Given the description of an element on the screen output the (x, y) to click on. 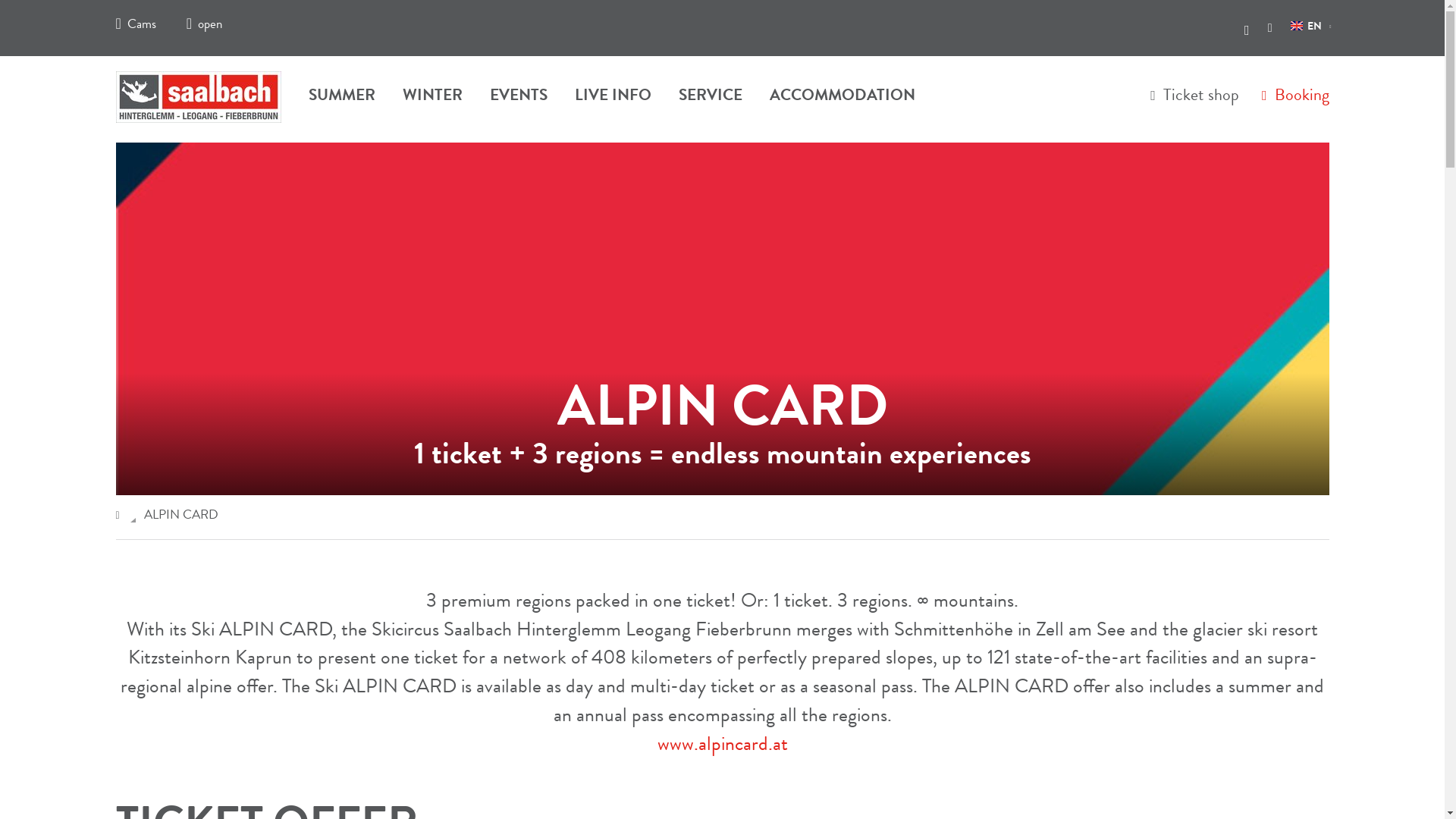
LIVE INFO (612, 104)
Language (1306, 27)
EVENTS (518, 104)
SUMMER (341, 104)
EN (1306, 27)
open (204, 24)
WINTER (432, 104)
Cams (135, 24)
